Given the description of an element on the screen output the (x, y) to click on. 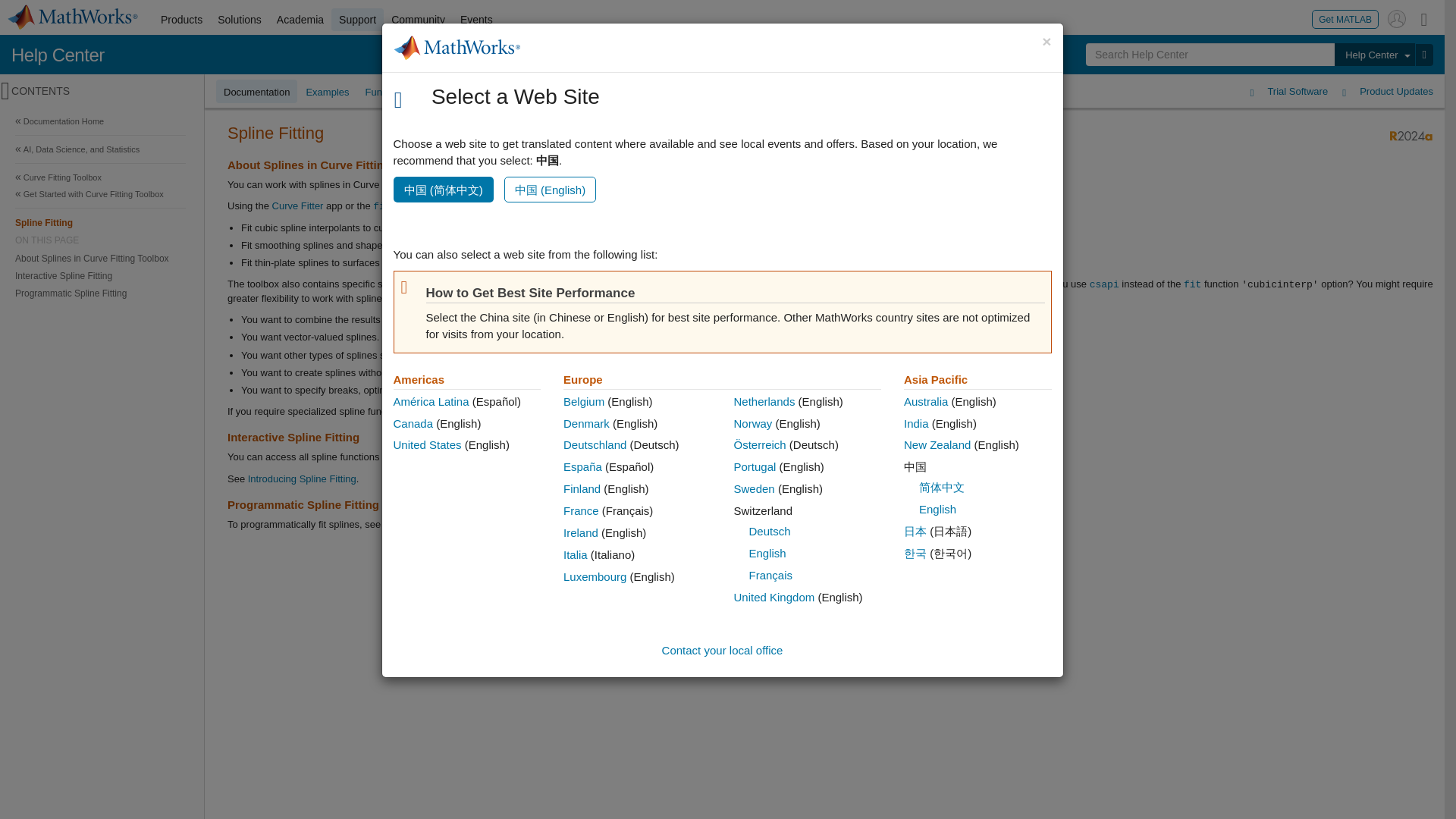
Spline Fitting (100, 221)
Support (357, 19)
Get MATLAB (1344, 18)
Academia (300, 19)
Solutions (239, 19)
Matrix Menu (1423, 18)
Sign In to Your MathWorks Account (1396, 18)
Community (418, 19)
Products (180, 19)
Events (476, 19)
ON THIS PAGE (100, 240)
